Given the description of an element on the screen output the (x, y) to click on. 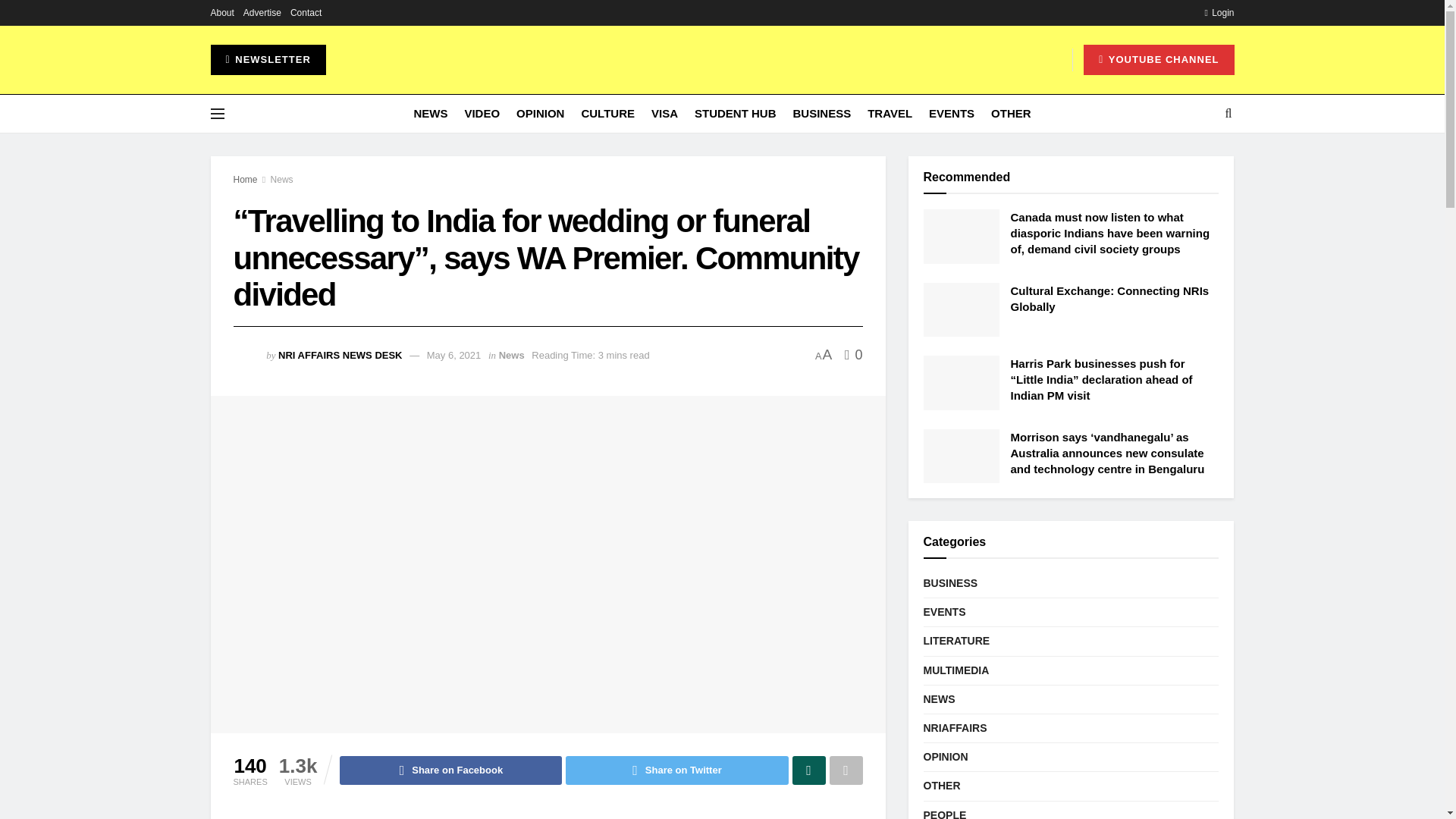
VISA (664, 113)
EVENTS (951, 113)
TRAVEL (889, 113)
News (282, 179)
YOUTUBE CHANNEL (1158, 60)
Contact (305, 12)
STUDENT HUB (735, 113)
VIDEO (481, 113)
OTHER (1010, 113)
CULTURE (607, 113)
